Given the description of an element on the screen output the (x, y) to click on. 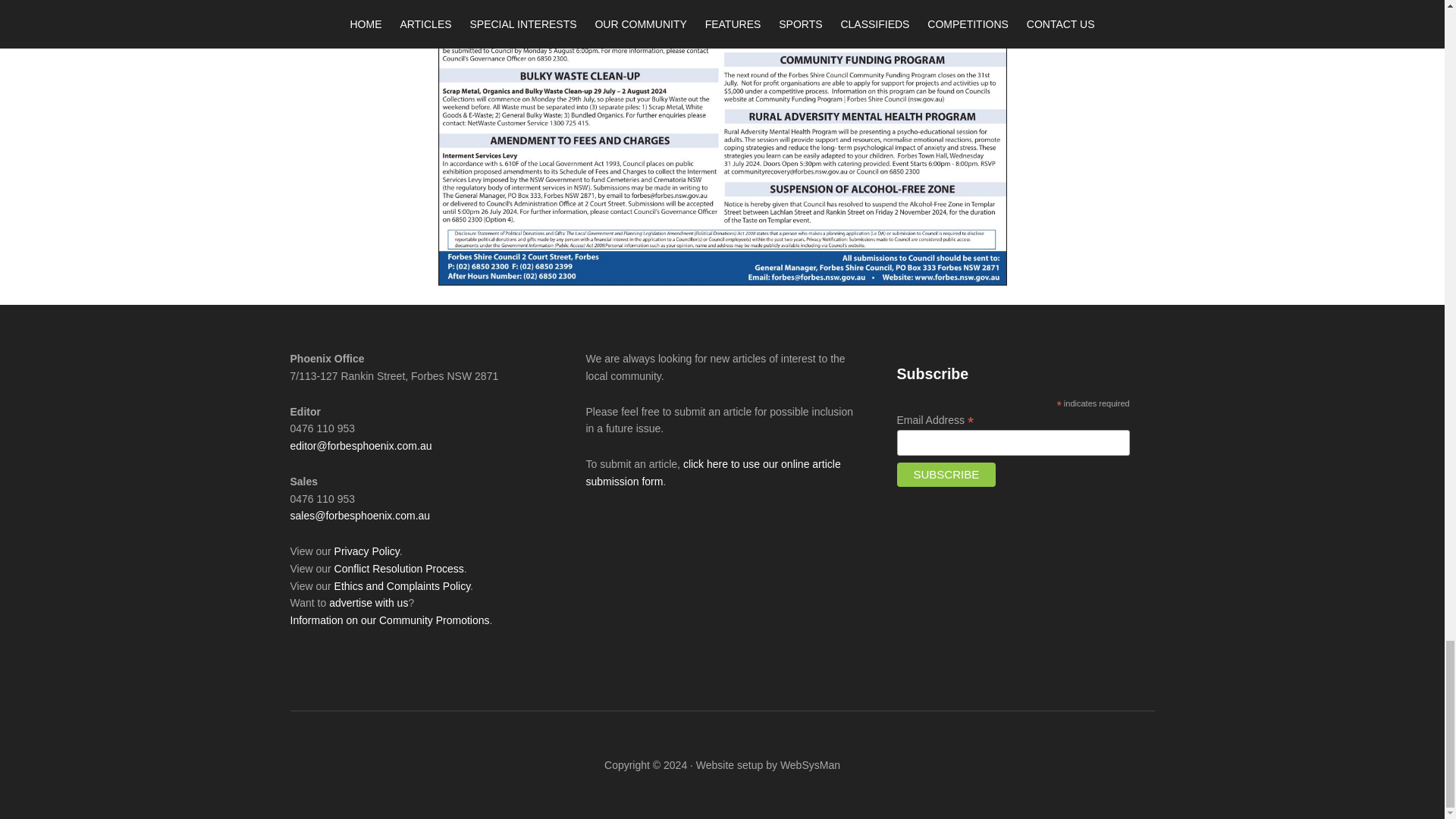
Submit an Article (712, 472)
Subscribe (945, 474)
Advertise with Us (368, 603)
Conflict Resolution Process (399, 568)
Privacy Policy (366, 551)
Ethics and Complaints Policy (402, 585)
